Given the description of an element on the screen output the (x, y) to click on. 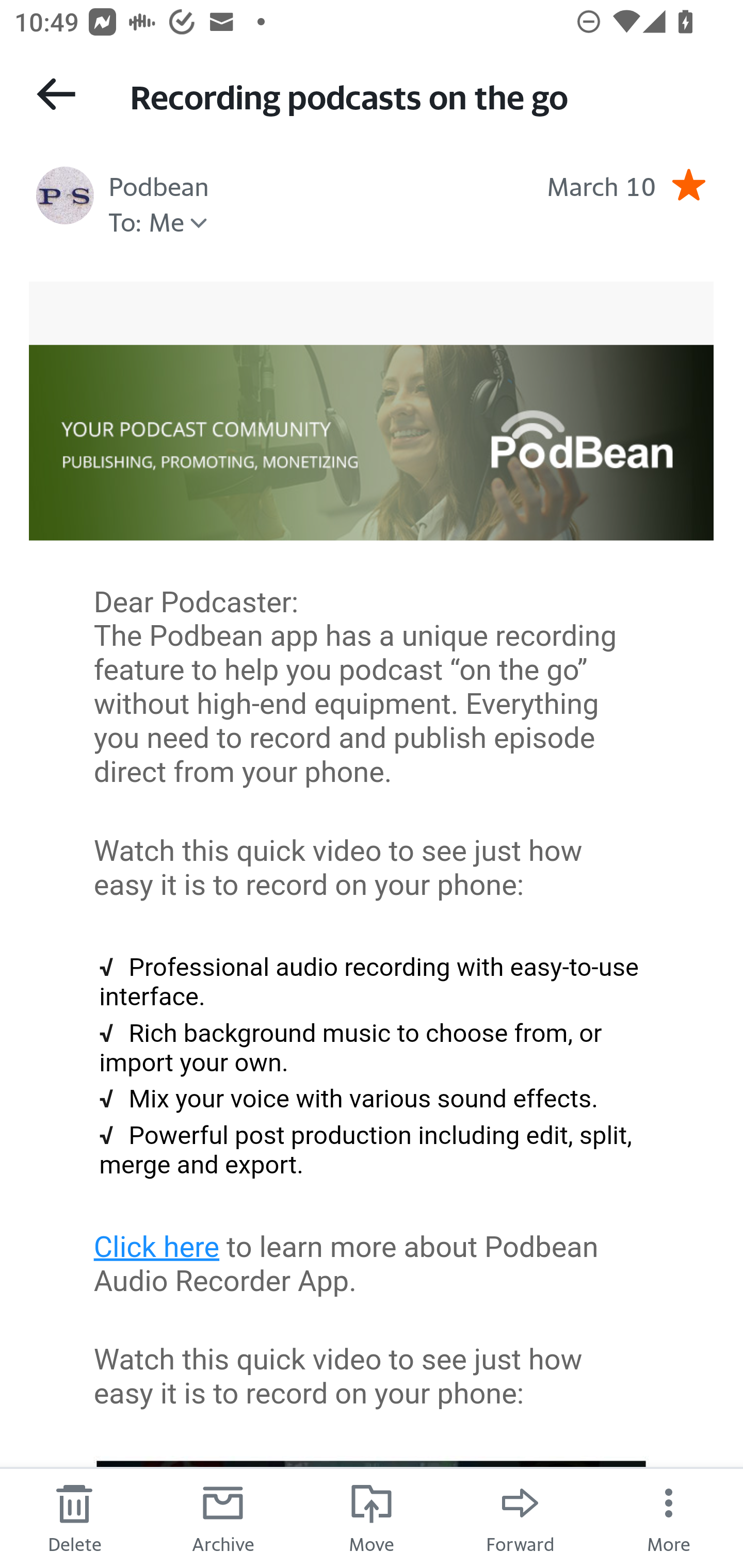
Back (55, 93)
Recording podcasts on the go (418, 94)
Profile (64, 195)
Podbean Sender Podbean (158, 184)
Remove star. (688, 184)
Click here (156, 1247)
Delete (74, 1517)
Archive (222, 1517)
Move (371, 1517)
Forward (519, 1517)
More (668, 1517)
